Given the description of an element on the screen output the (x, y) to click on. 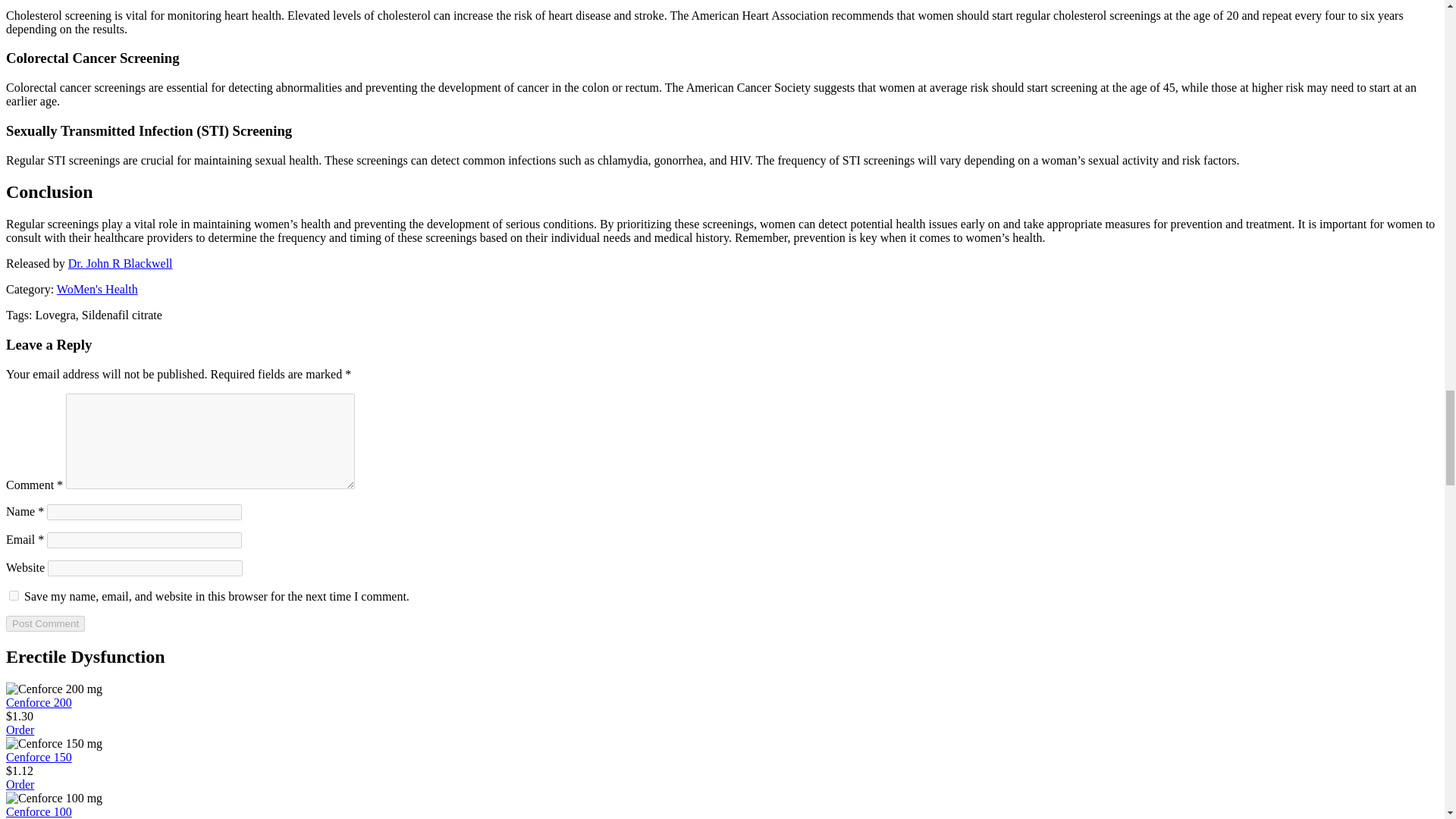
yes (13, 595)
WoMen's Health (97, 288)
Dr. John R Blackwell (120, 263)
Post Comment (44, 623)
Posts by Dr. John R Blackwell (120, 263)
